Given the description of an element on the screen output the (x, y) to click on. 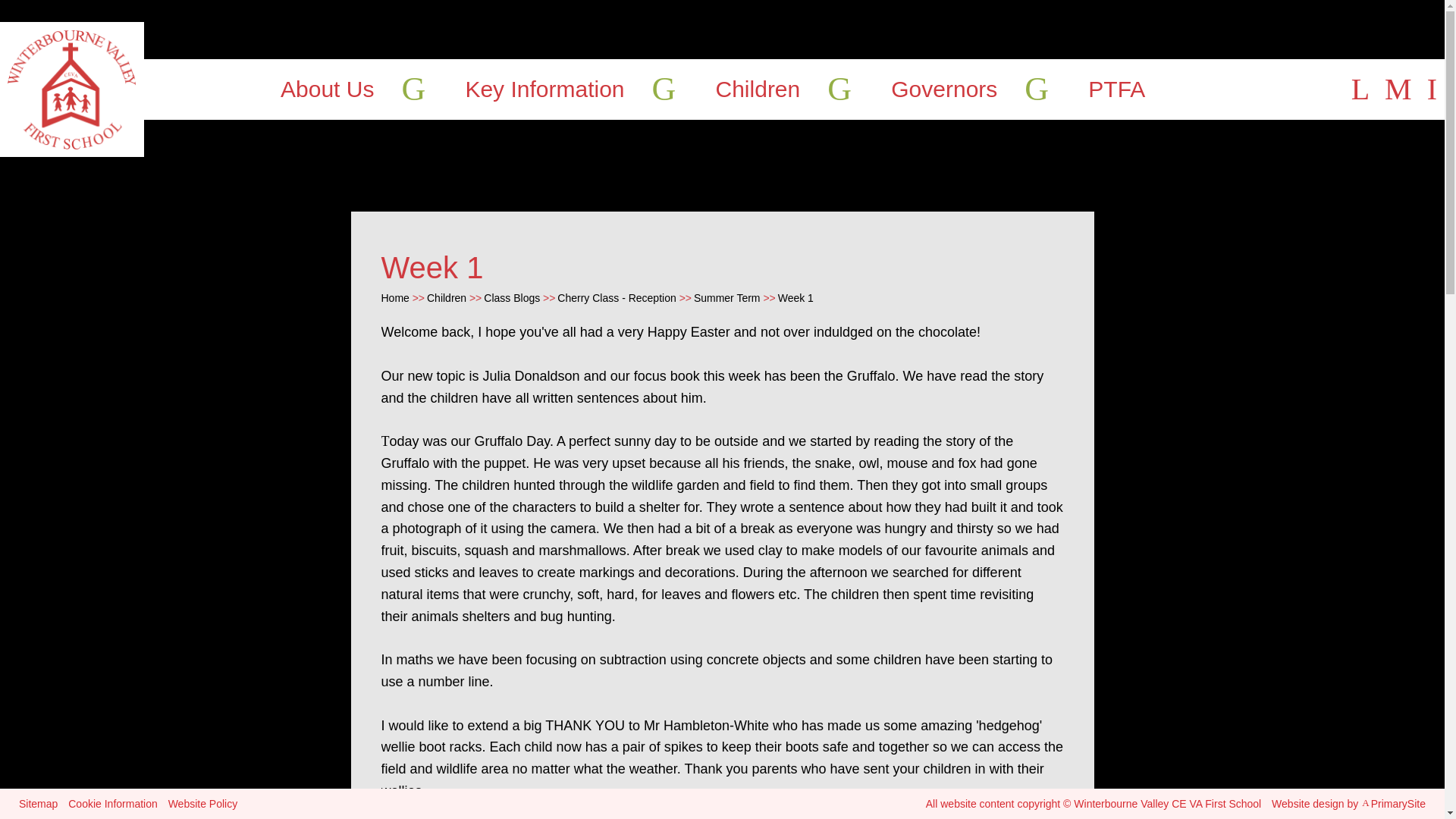
Home Page (72, 89)
Key Information (544, 88)
About Us (327, 88)
Children (758, 88)
